Given the description of an element on the screen output the (x, y) to click on. 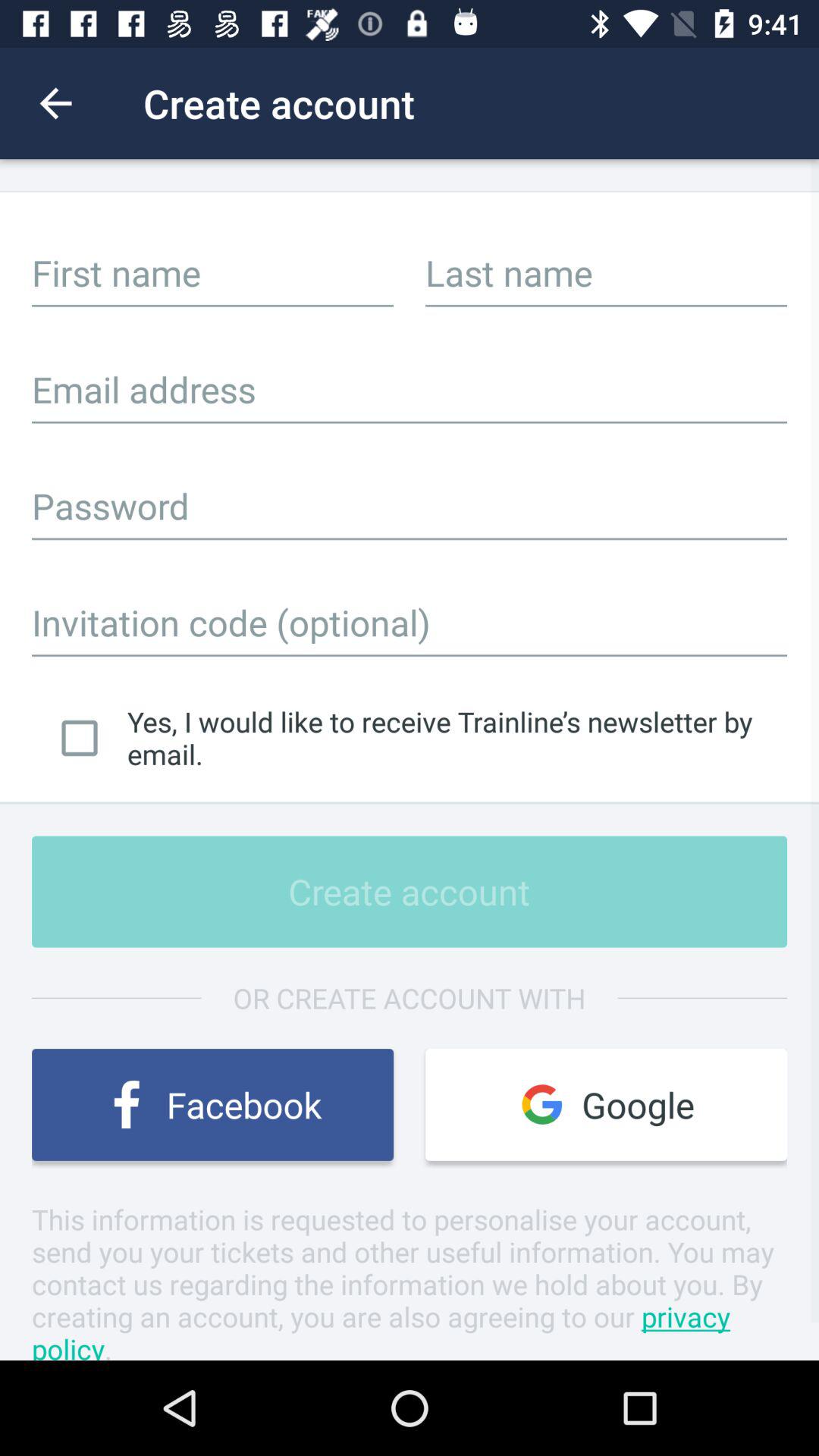
choose the item below the facebook icon (409, 1280)
